Given the description of an element on the screen output the (x, y) to click on. 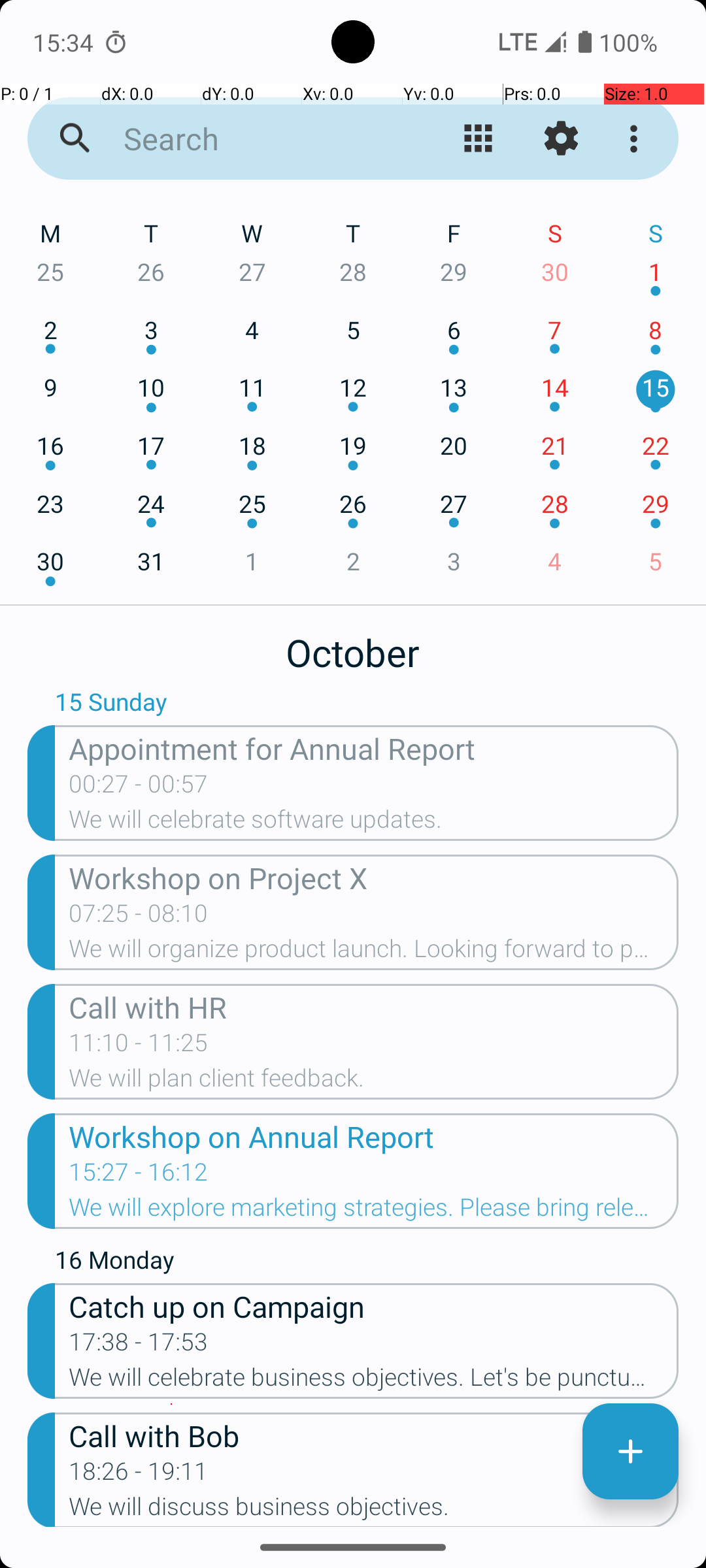
00:27 - 00:57 Element type: android.widget.TextView (137, 787)
We will celebrate software updates. Element type: android.widget.TextView (373, 822)
07:25 - 08:10 Element type: android.widget.TextView (137, 916)
We will organize product launch. Looking forward to productive discussions. Element type: android.widget.TextView (373, 952)
11:10 - 11:25 Element type: android.widget.TextView (137, 1046)
We will plan client feedback. Element type: android.widget.TextView (373, 1081)
15:27 - 16:12 Element type: android.widget.TextView (137, 1175)
We will explore marketing strategies. Please bring relevant documents. Element type: android.widget.TextView (373, 1210)
17:38 - 17:53 Element type: android.widget.TextView (137, 1345)
We will celebrate business objectives. Let's be punctual. Element type: android.widget.TextView (373, 1380)
18:26 - 19:11 Element type: android.widget.TextView (137, 1474)
We will discuss business objectives. Element type: android.widget.TextView (373, 1509)
